Given the description of an element on the screen output the (x, y) to click on. 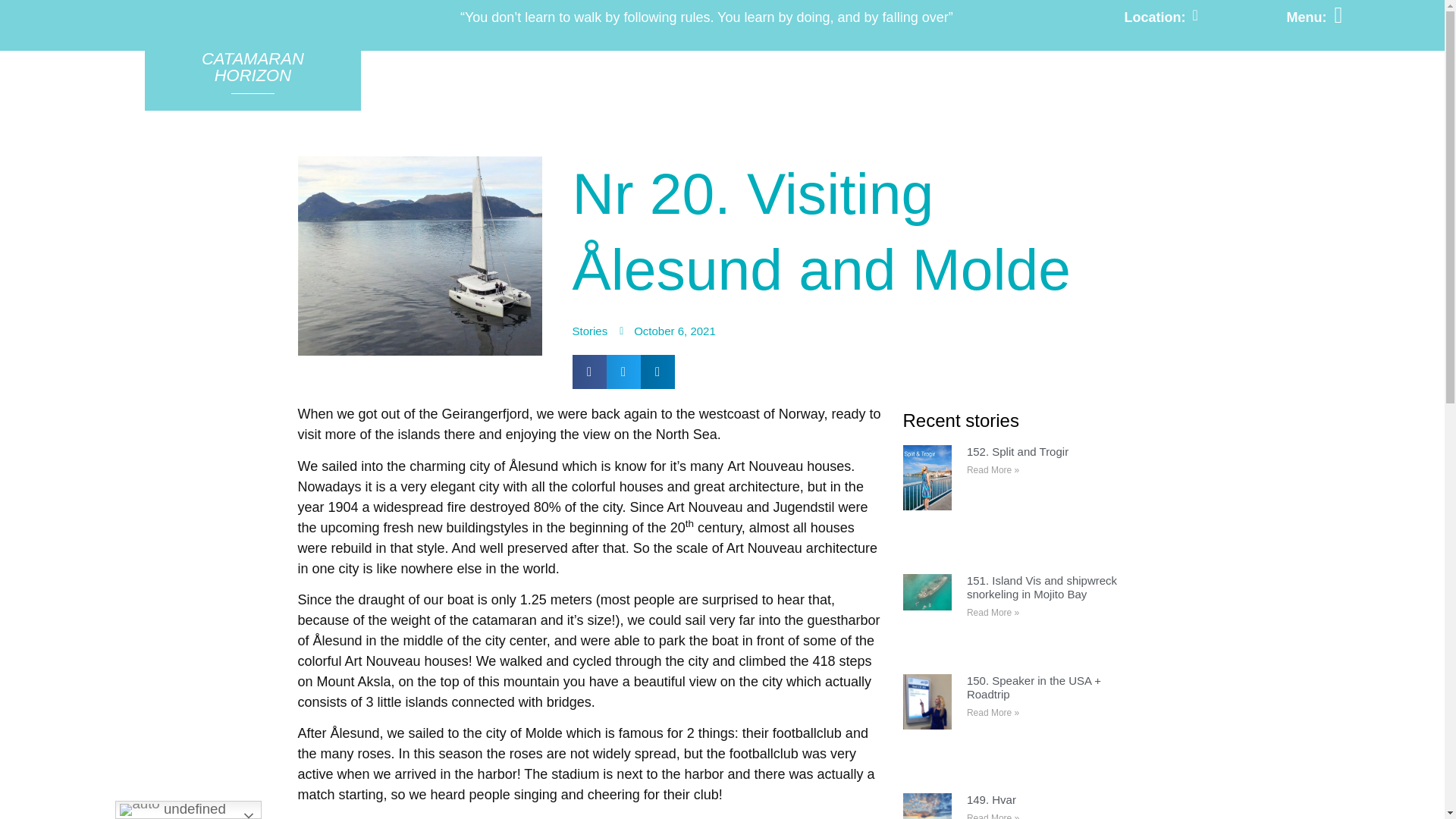
undefined (188, 809)
